Given the description of an element on the screen output the (x, y) to click on. 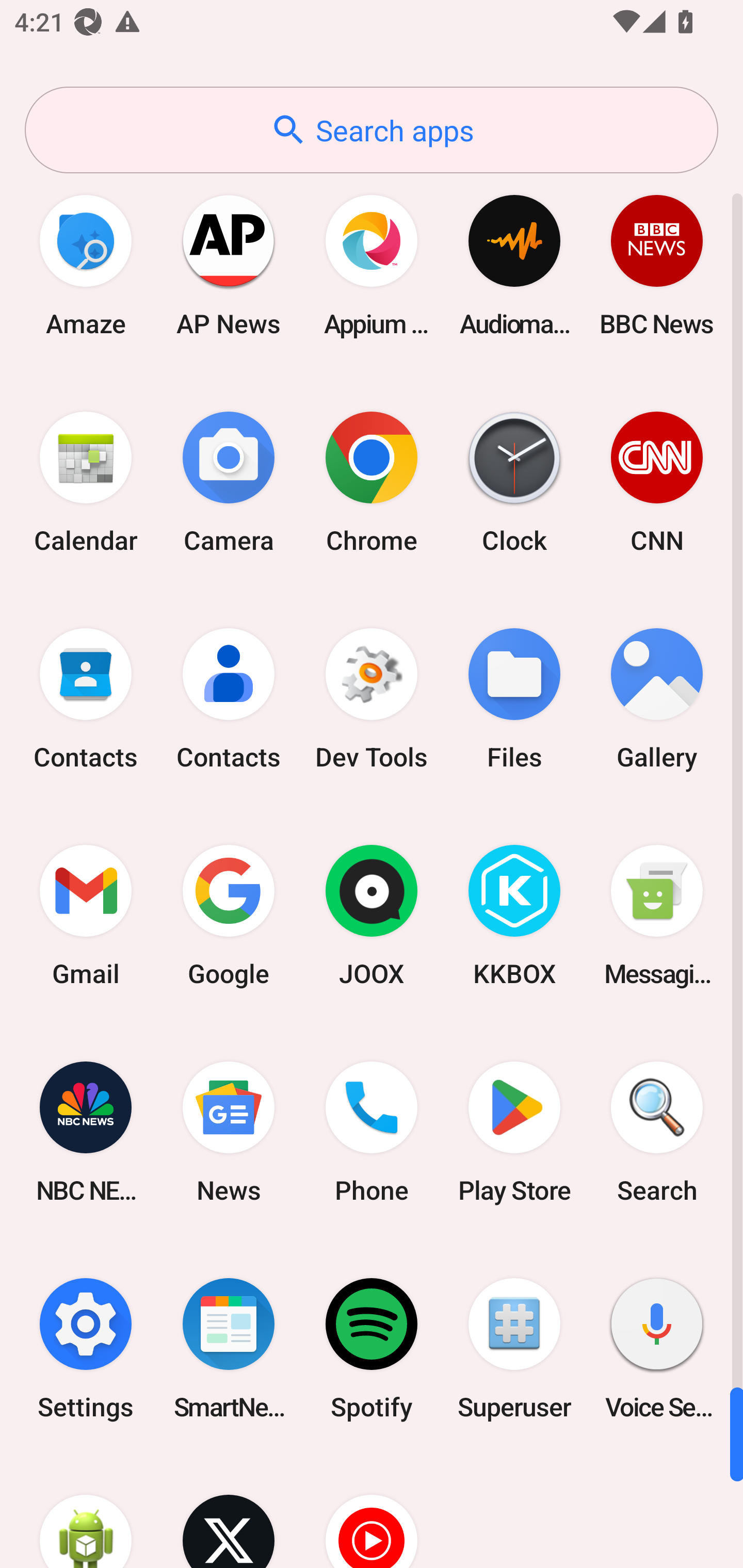
  Search apps (371, 130)
Amaze (85, 264)
AP News (228, 264)
Appium Settings (371, 264)
Audio­mack (514, 264)
BBC News (656, 264)
Calendar (85, 482)
Camera (228, 482)
Chrome (371, 482)
Clock (514, 482)
CNN (656, 482)
Contacts (85, 699)
Contacts (228, 699)
Dev Tools (371, 699)
Files (514, 699)
Gallery (656, 699)
Gmail (85, 915)
Google (228, 915)
JOOX (371, 915)
KKBOX (514, 915)
Messaging (656, 915)
NBC NEWS (85, 1131)
News (228, 1131)
Phone (371, 1131)
Play Store (514, 1131)
Search (656, 1131)
Settings (85, 1348)
SmartNews (228, 1348)
Spotify (371, 1348)
Superuser (514, 1348)
Voice Search (656, 1348)
WebView Browser Tester (85, 1512)
X (228, 1512)
YT Music (371, 1512)
